Given the description of an element on the screen output the (x, y) to click on. 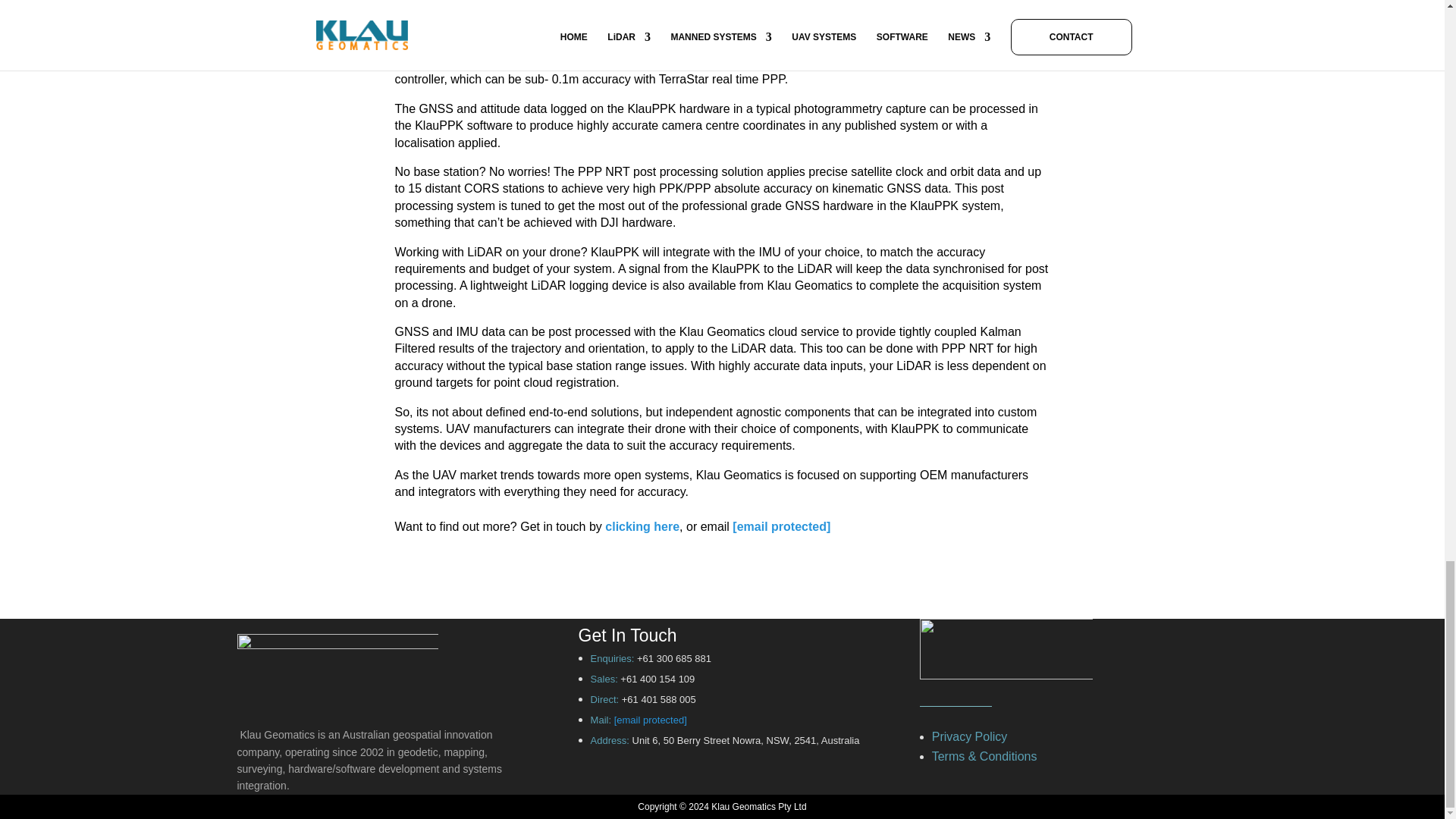
Privacy Policy  (970, 736)
logo-1 (336, 666)
clicking here (642, 526)
Carbon-Neutral (1006, 649)
